Given the description of an element on the screen output the (x, y) to click on. 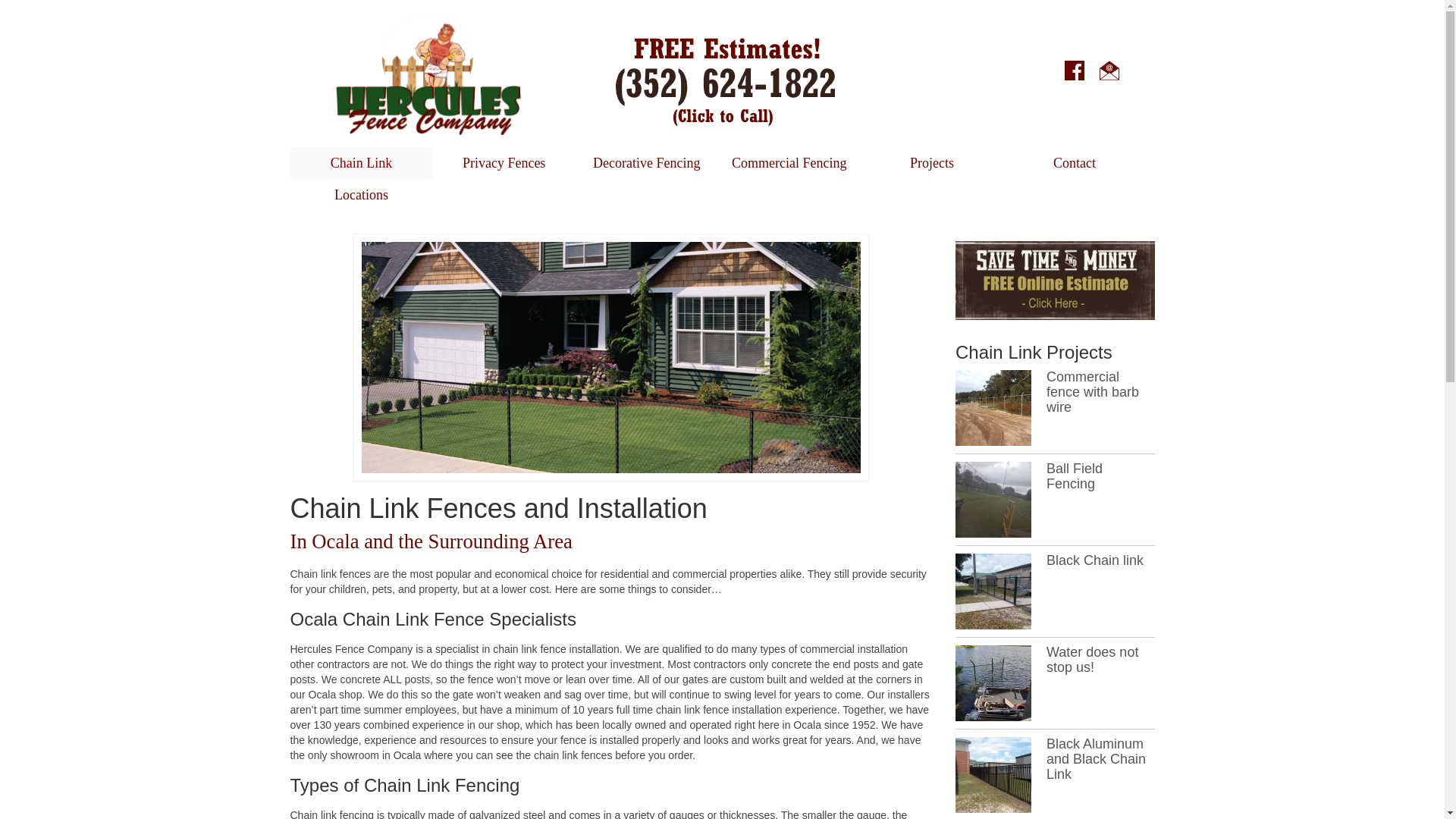
Commercial Fencing (788, 163)
Water does not stop us! (1092, 659)
Black Chain link (1094, 560)
Locations (360, 194)
Commercial fence with barb wire (992, 407)
Water does not stop us! (992, 683)
Ball Field Fencing (1074, 476)
Ball Field Fencing (992, 499)
Black Aluminum and Black Chain Link (992, 775)
Decorative Fencing (646, 163)
